Given the description of an element on the screen output the (x, y) to click on. 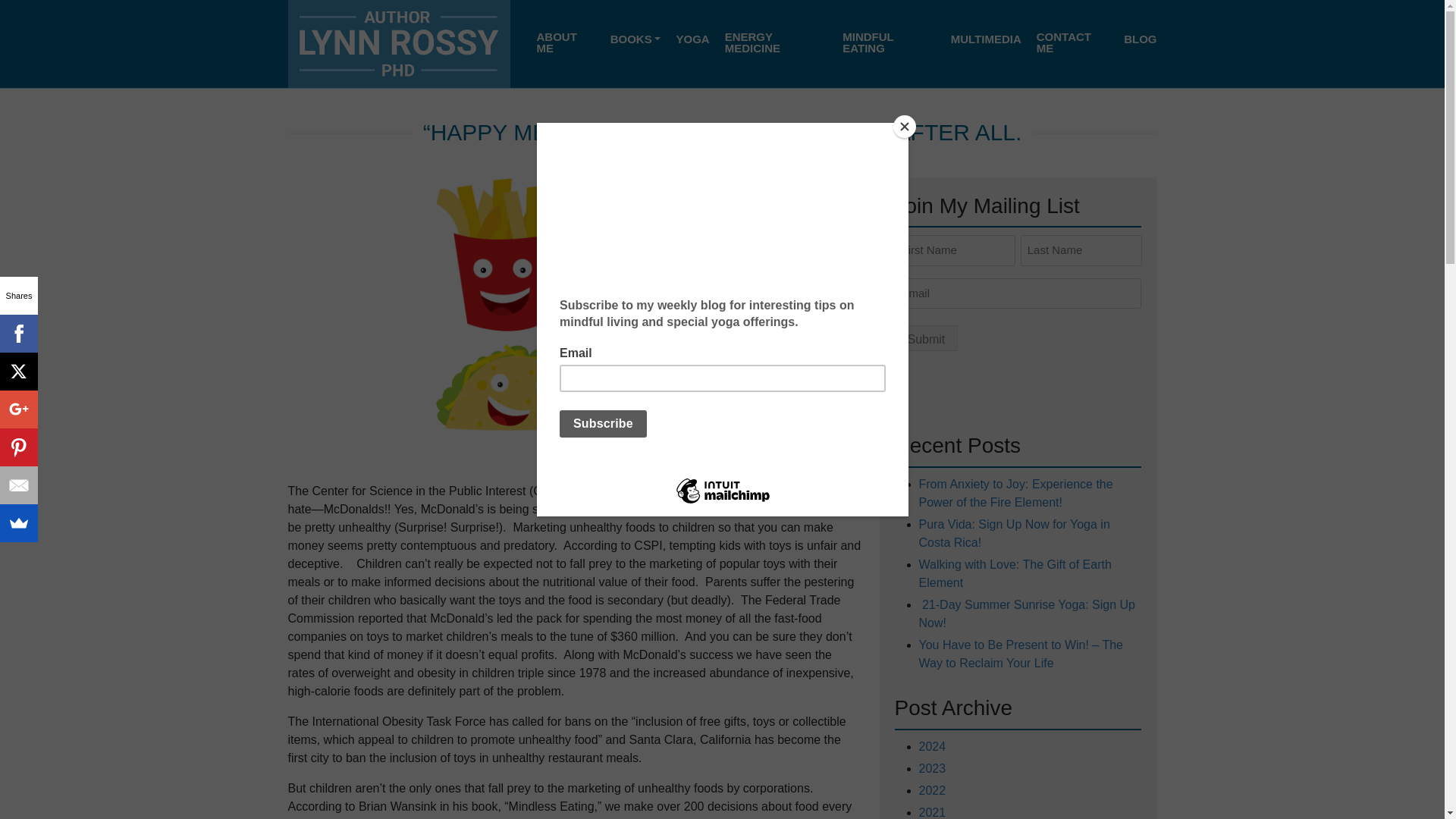
Facebook (18, 333)
2023 (932, 767)
X (18, 371)
MINDFUL EATING (888, 42)
Email (18, 485)
 21-Day Summer Sunrise Yoga: Sign Up Now! (1026, 613)
Pinterest (18, 447)
ENERGY MEDICINE (776, 42)
2021 (932, 811)
CONTACT ME (1072, 42)
YOGA (692, 39)
Submit (926, 338)
2024 (932, 746)
ABOUT ME (566, 42)
